Given the description of an element on the screen output the (x, y) to click on. 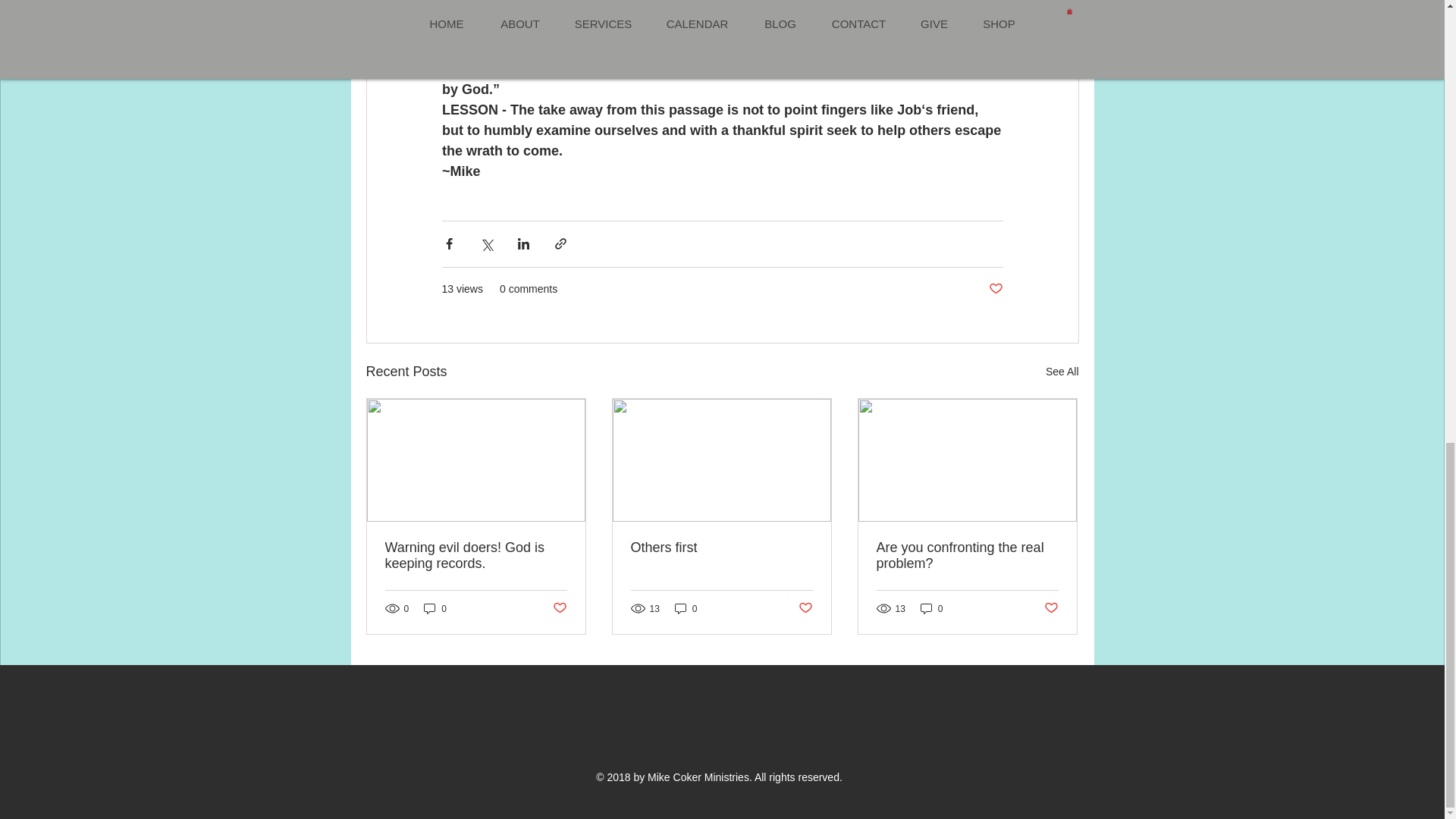
0 (435, 608)
0 (931, 608)
Warning evil doers! God is keeping records. (476, 555)
Are you confronting the real problem? (967, 555)
Post not marked as liked (995, 289)
0 (685, 608)
Post not marked as liked (1050, 608)
Others first (721, 547)
Post not marked as liked (804, 608)
See All (1061, 372)
Post not marked as liked (558, 608)
